Given the description of an element on the screen output the (x, y) to click on. 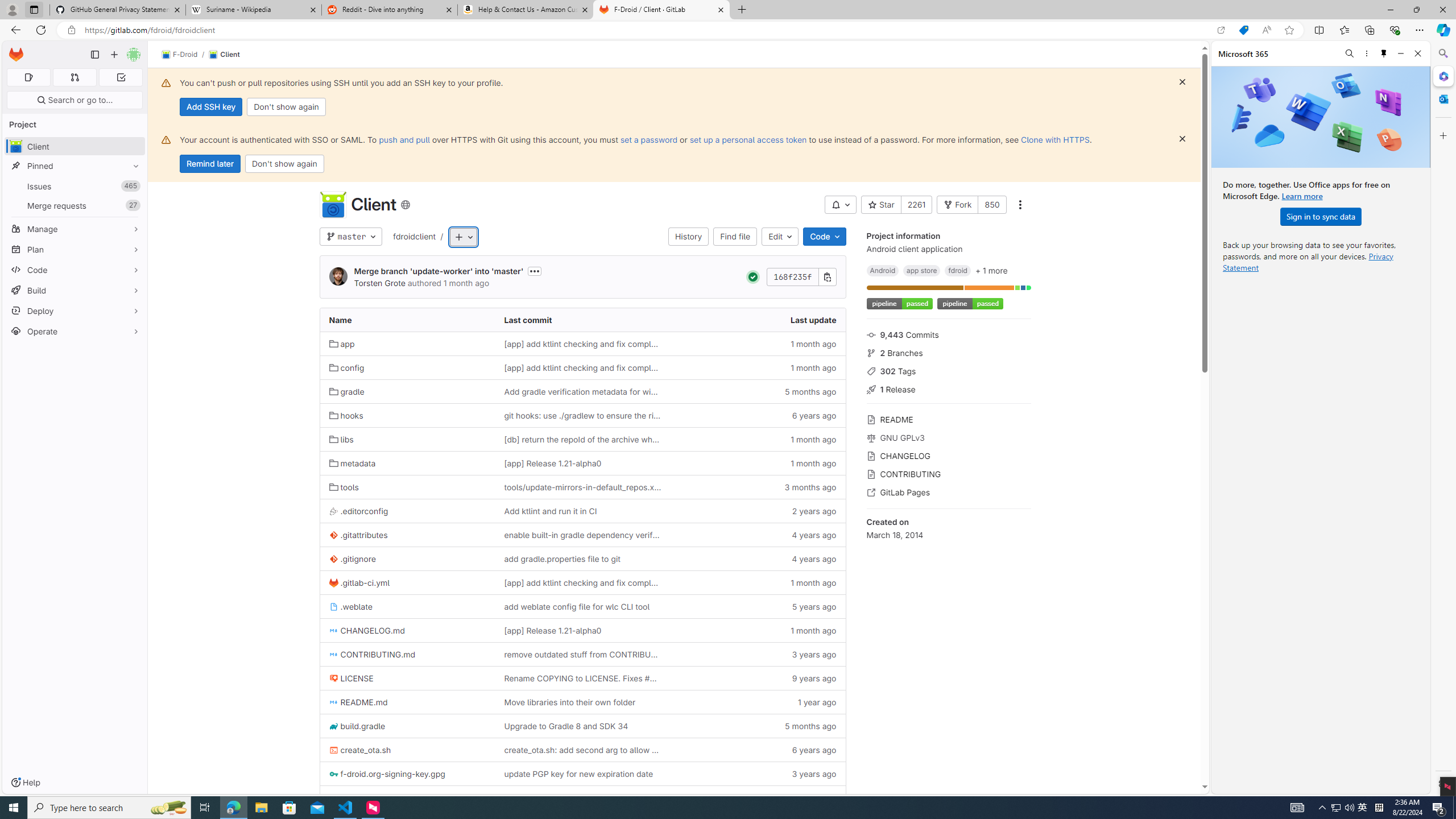
build.gradle (407, 725)
.gitlab-ci.yml (359, 582)
fdroid (957, 269)
F-Droid/ (185, 54)
Class: s16 icon gl-mr-3 gl-text-gray-500 (871, 492)
add weblate config file for wlc CLI tool (576, 606)
f-droid.org-signing-key.gpg (387, 774)
CHANGELOG.md (366, 630)
gradle.properties (407, 797)
libs (341, 439)
Unpin Merge requests (132, 205)
